Given the description of an element on the screen output the (x, y) to click on. 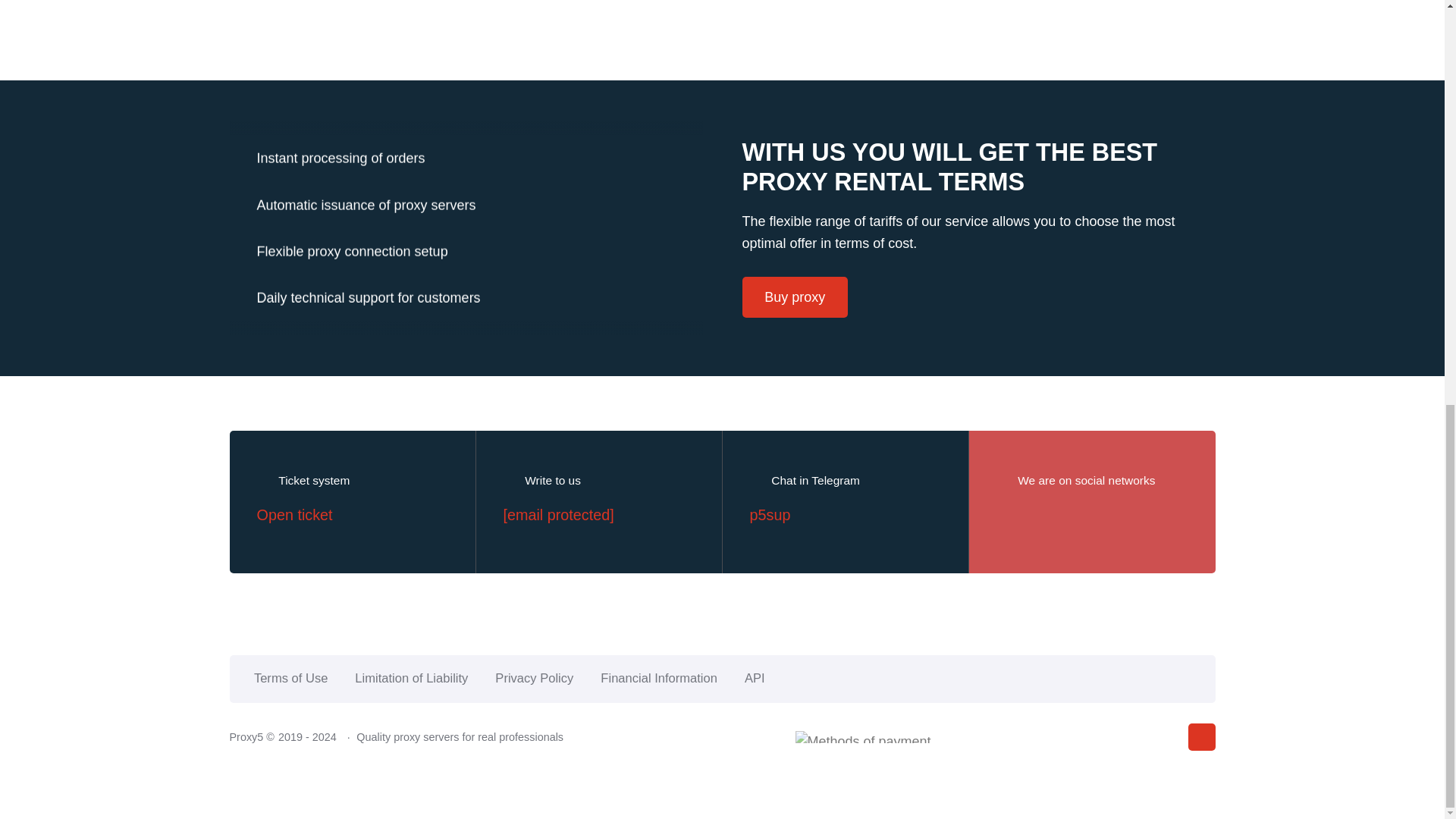
Multifunctional client panel (354, 219)
Favorable lease renewal terms (354, 128)
Lowest prices (354, 83)
Wide range of payment methods (354, 173)
Flexible proxy connection setup (354, 354)
Automatic issuance of proxy servers (354, 309)
Instant processing of orders (354, 263)
